Given the description of an element on the screen output the (x, y) to click on. 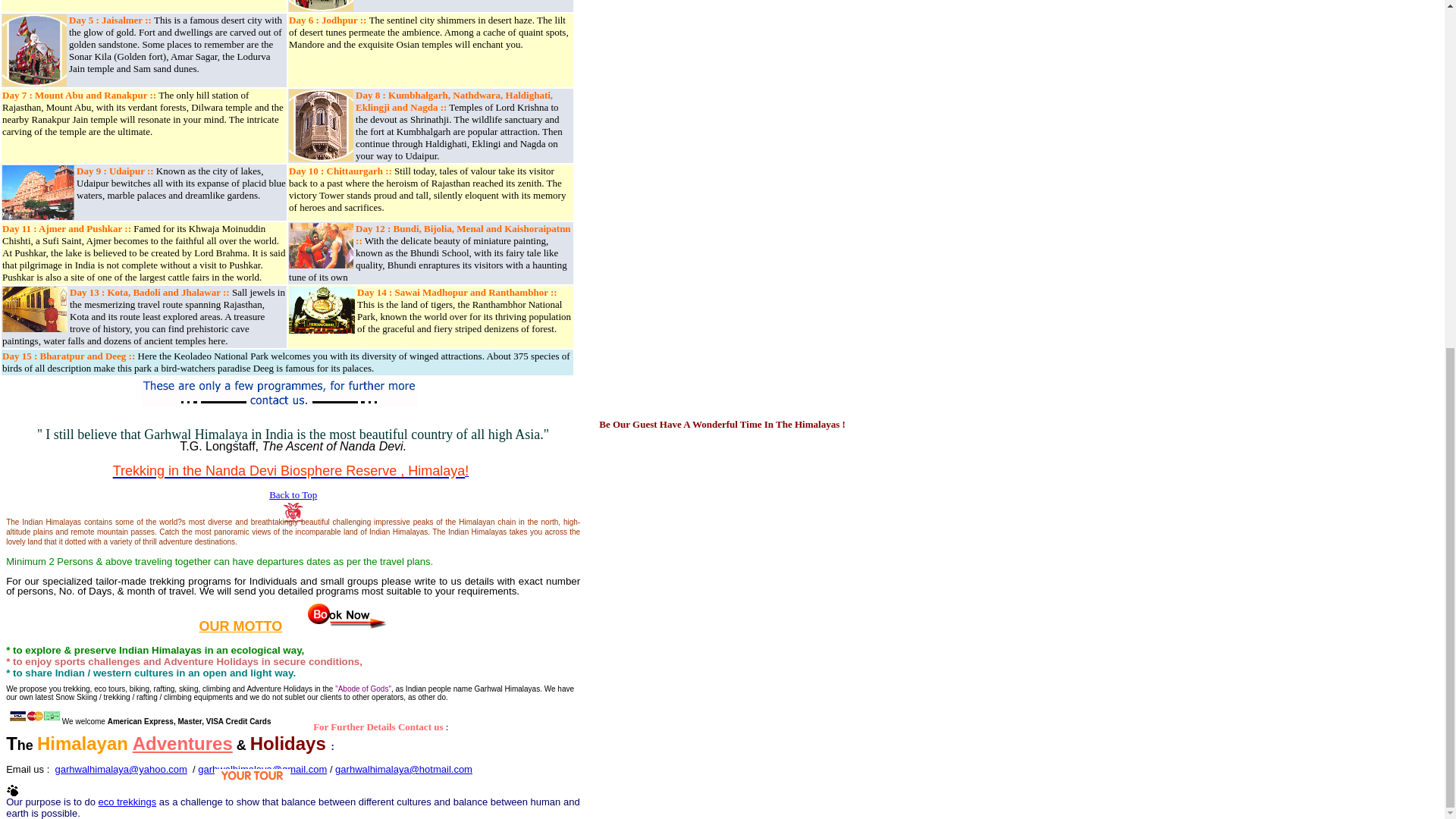
Trekking in the Nanda Devi Biosphere Reserve , Himalaya (289, 469)
Back to Top (293, 494)
! (466, 470)
eco trekkings (128, 801)
